Given the description of an element on the screen output the (x, y) to click on. 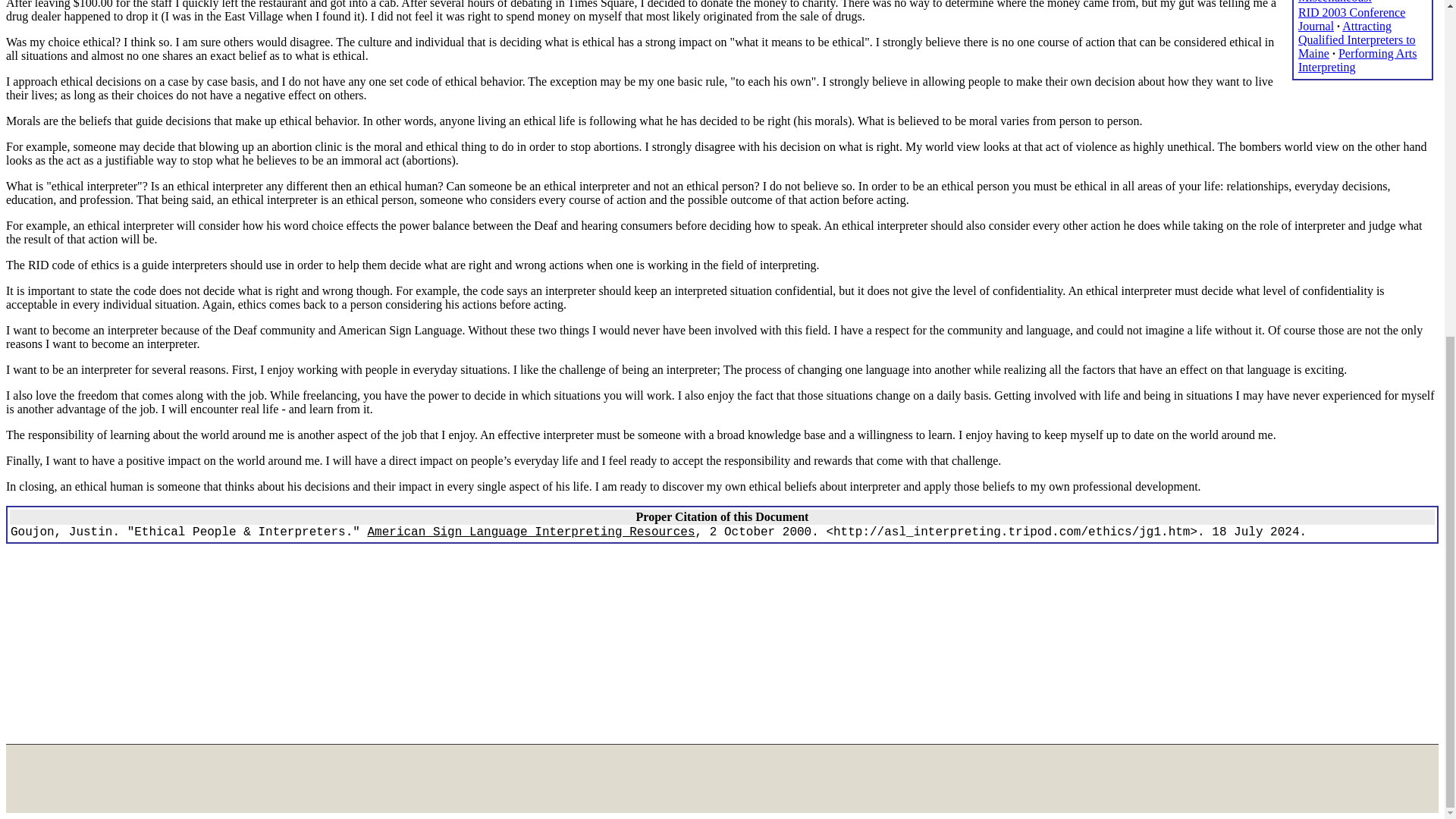
Miscellaneous: (1334, 2)
Attracting Qualified Interpreters to Maine (1356, 39)
RID 2003 Conference Journal (1351, 18)
Performing Arts Interpreting (1357, 59)
